Given the description of an element on the screen output the (x, y) to click on. 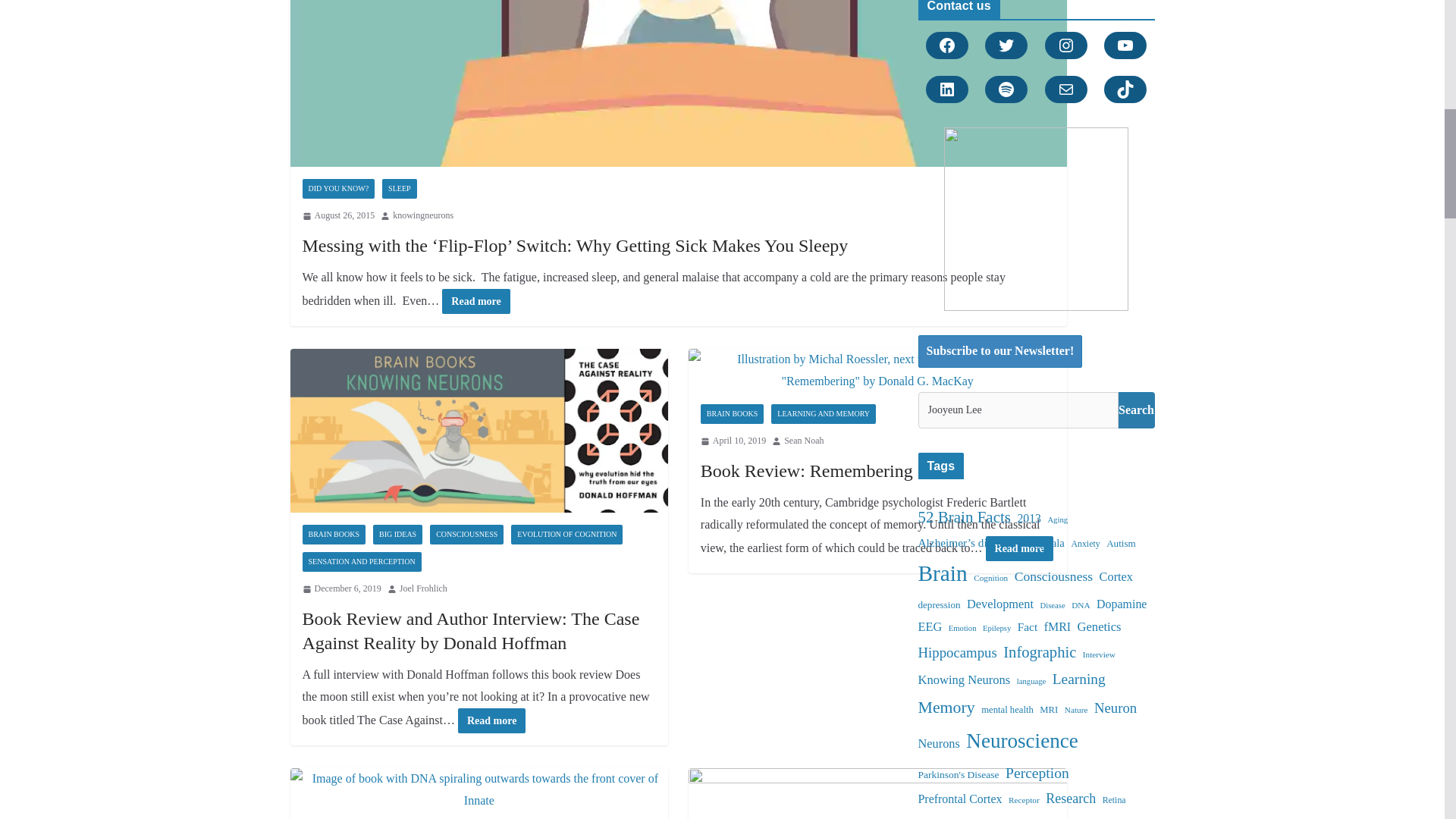
9:00 am (337, 216)
Joel Frohlich (422, 588)
Jooyeun Lee (1017, 410)
9:00 am (340, 588)
Jooyeun Lee (1017, 410)
Book Review: Remembering (877, 370)
Book Review: Remembering (806, 470)
